Given the description of an element on the screen output the (x, y) to click on. 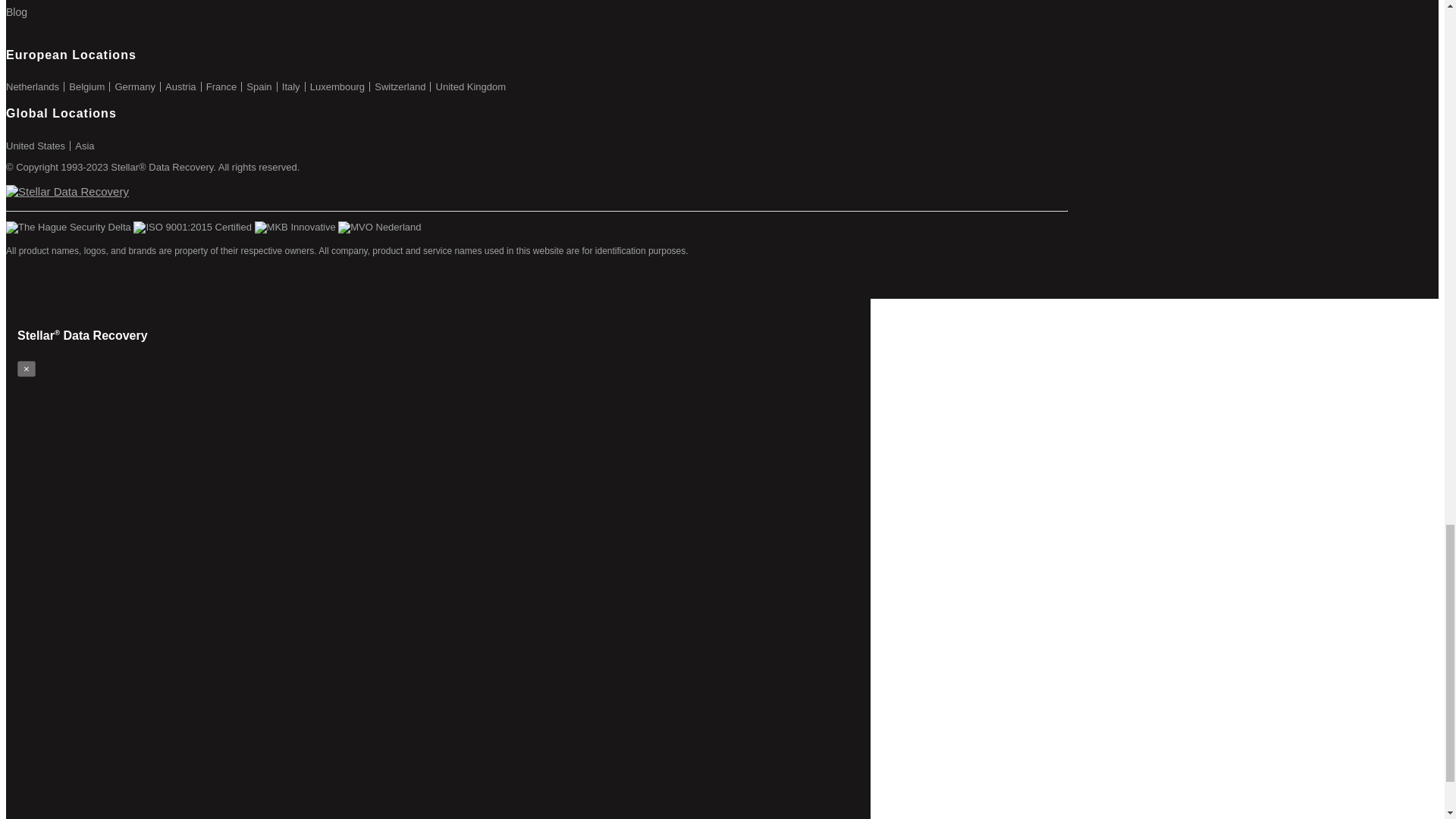
Stellar Data Recovery (67, 191)
